Given the description of an element on the screen output the (x, y) to click on. 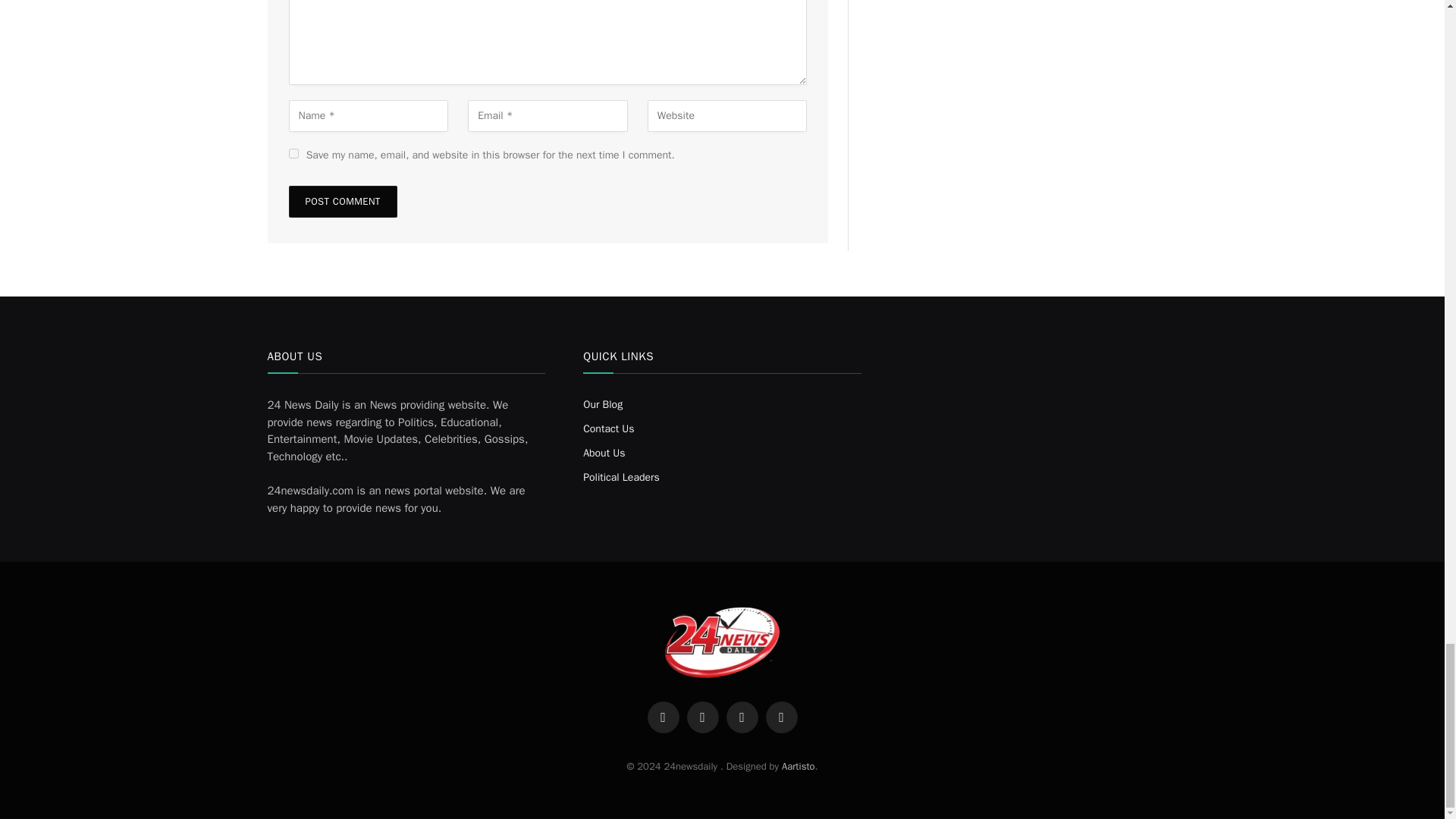
yes (293, 153)
Post Comment (342, 201)
